Given the description of an element on the screen output the (x, y) to click on. 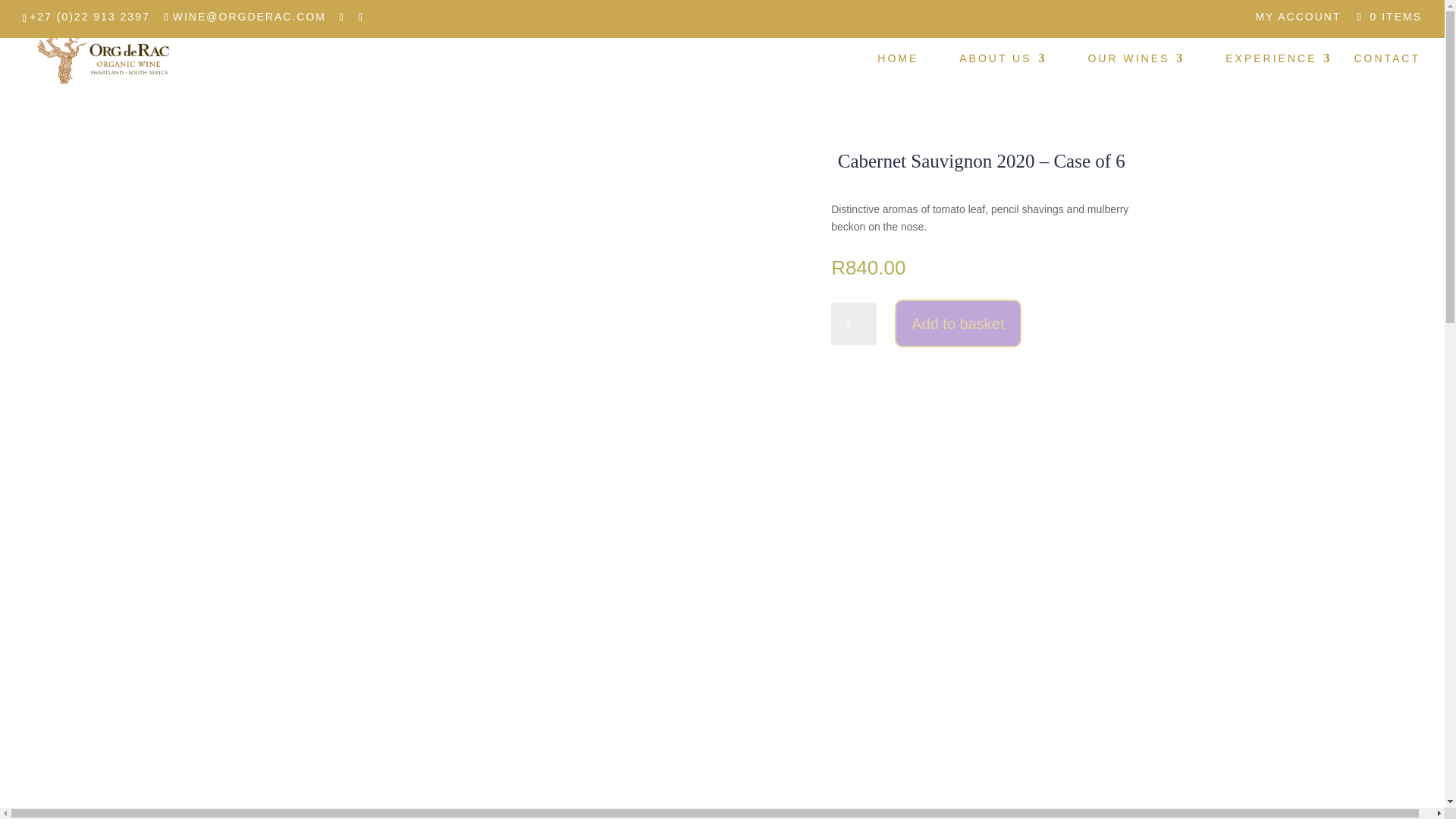
1 (853, 323)
EXPERIENCE (1278, 73)
MY ACCOUNT (1297, 20)
OUR WINES (1136, 73)
ABOUT US (1002, 73)
CONTACT (1387, 73)
Add to basket (957, 323)
0 ITEMS (1387, 16)
HOME (897, 73)
